Given the description of an element on the screen output the (x, y) to click on. 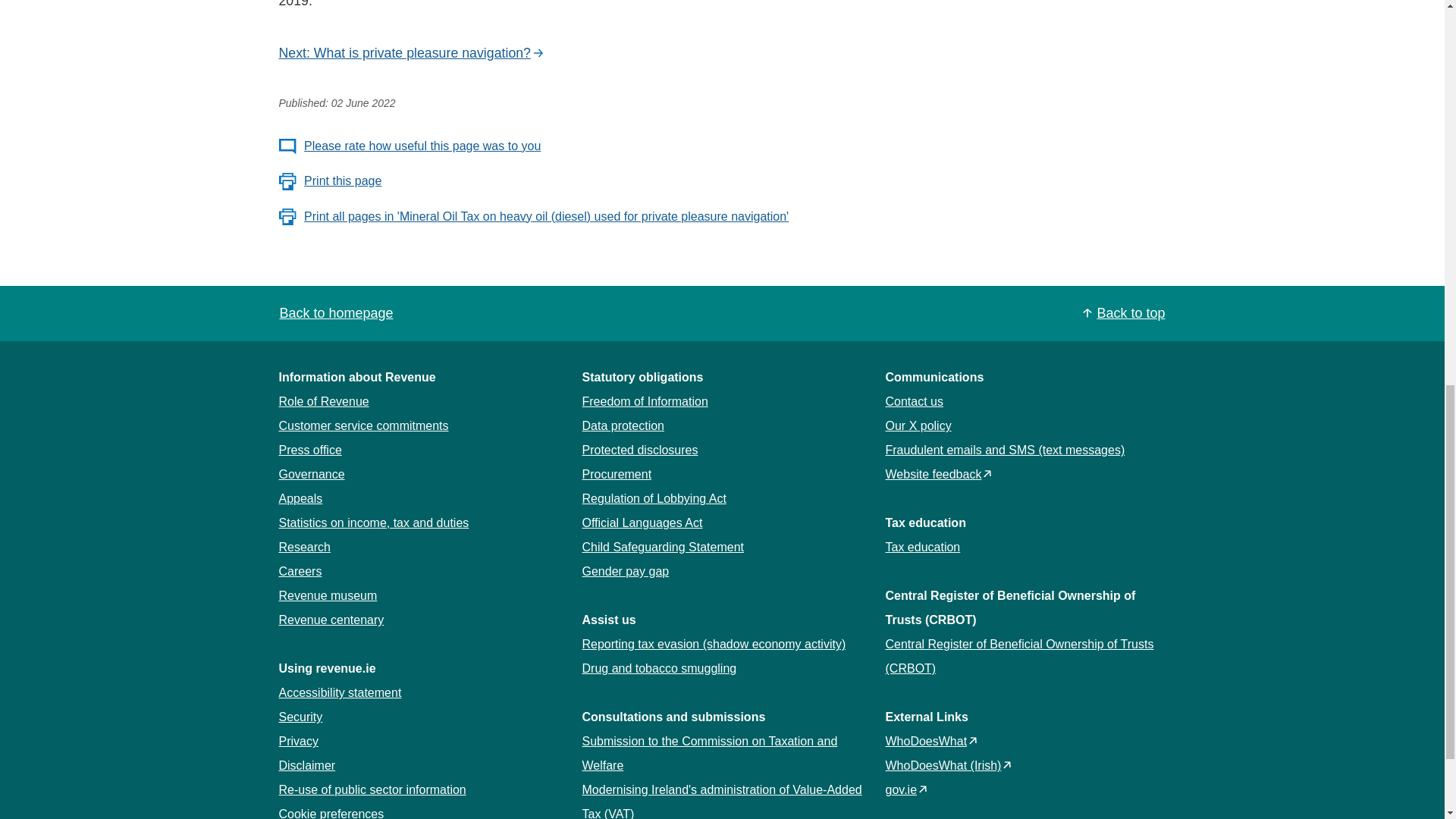
Appeals (301, 498)
Revenue centenary (331, 619)
Press office (310, 449)
Back to homepage (336, 313)
Next: What is private pleasure navigation? (411, 53)
Customer service commitments (363, 425)
Press office (310, 449)
Research (304, 546)
Role of Revenue (324, 400)
Careers (300, 571)
